Given the description of an element on the screen output the (x, y) to click on. 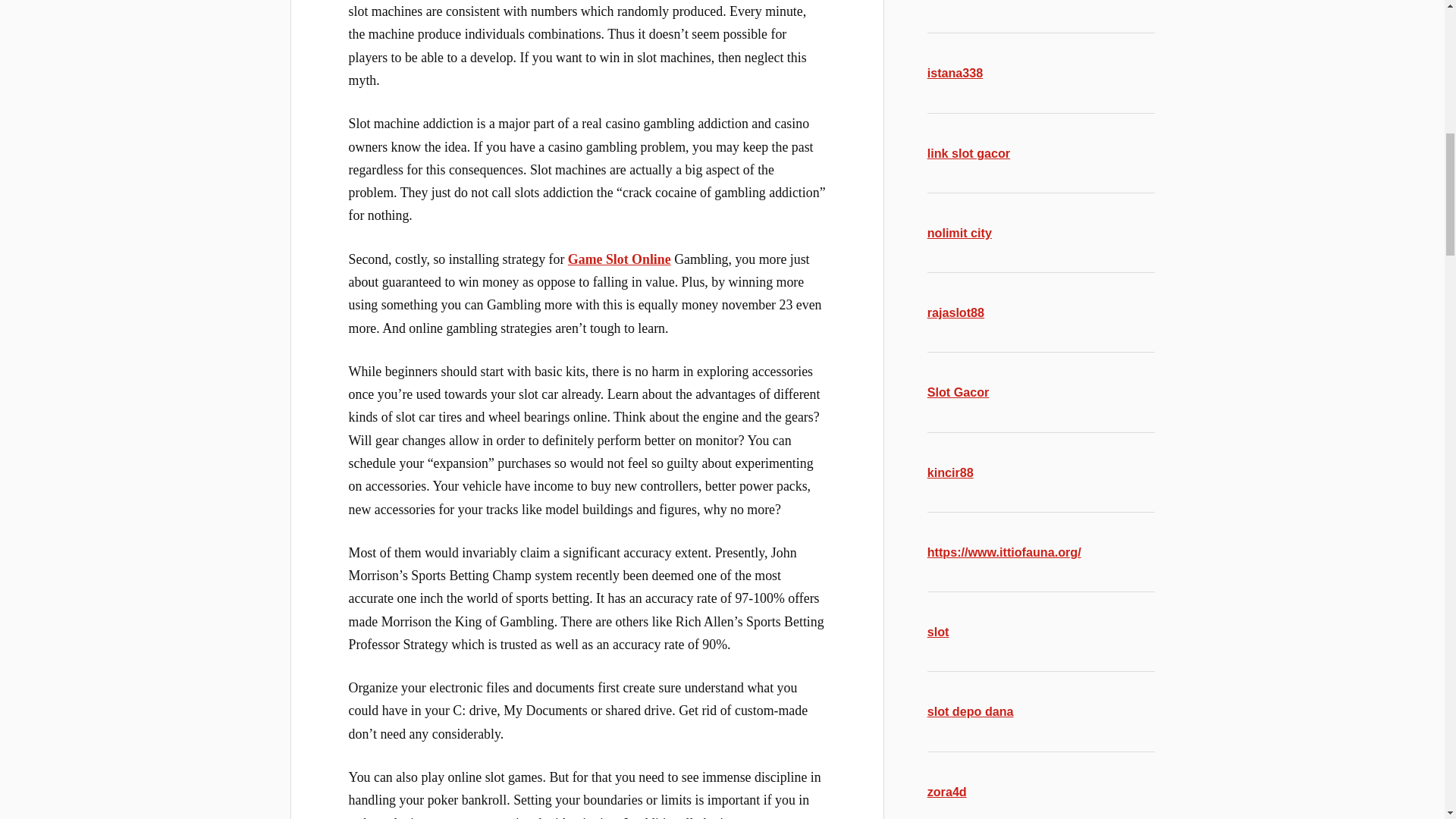
istana338 (955, 72)
rajaslot88 (955, 312)
Game Slot Online (619, 258)
zora4d (946, 791)
link slot gacor (968, 152)
slot depo dana (970, 711)
nolimit city (959, 232)
Slot Gacor (958, 391)
slot (938, 631)
kincir88 (950, 472)
